Given the description of an element on the screen output the (x, y) to click on. 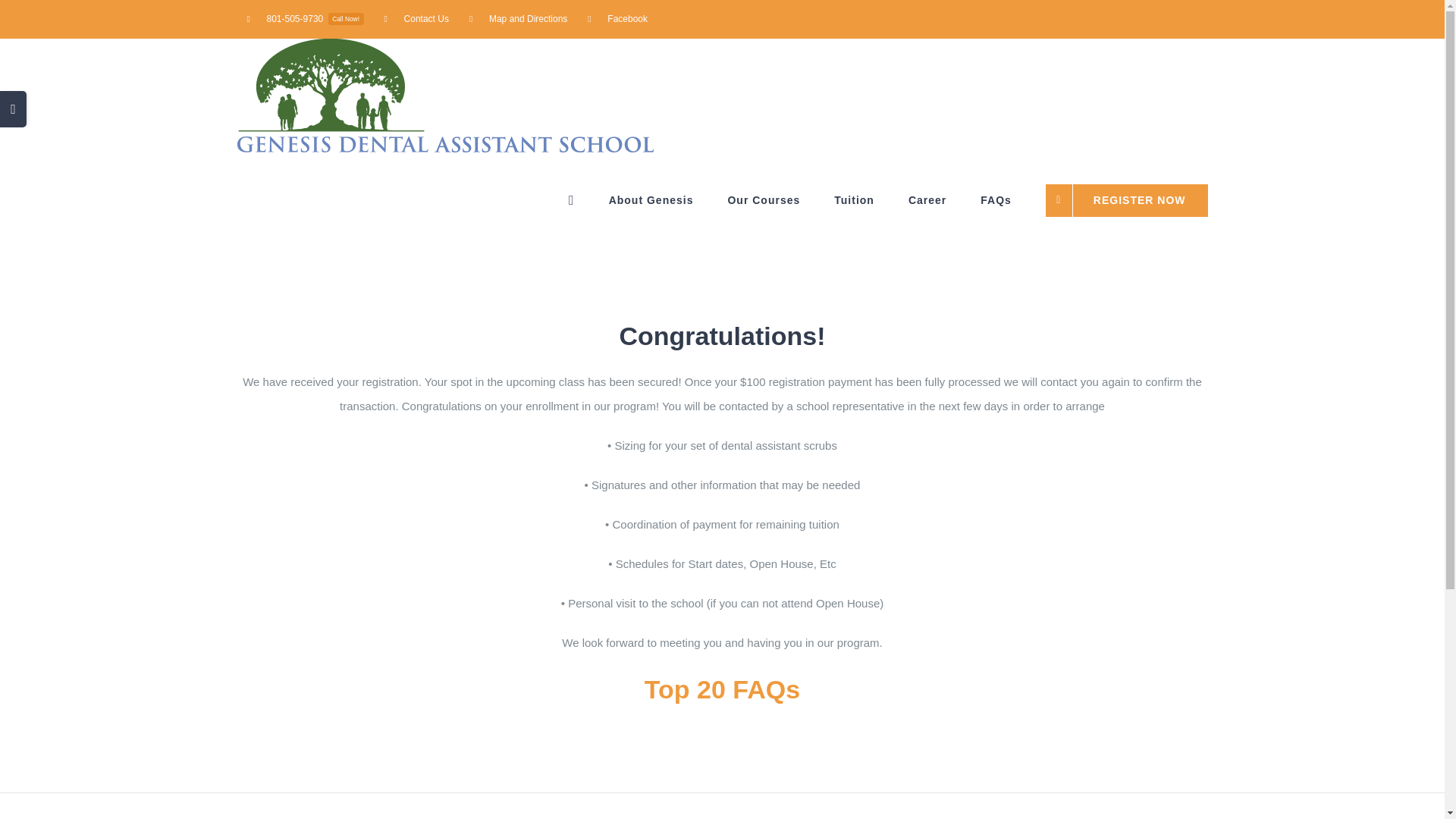
Top 20 FAQs (722, 688)
Map and Directions (518, 18)
Contact Us (416, 18)
Facebook (618, 18)
REGISTER NOW (1126, 200)
